Given the description of an element on the screen output the (x, y) to click on. 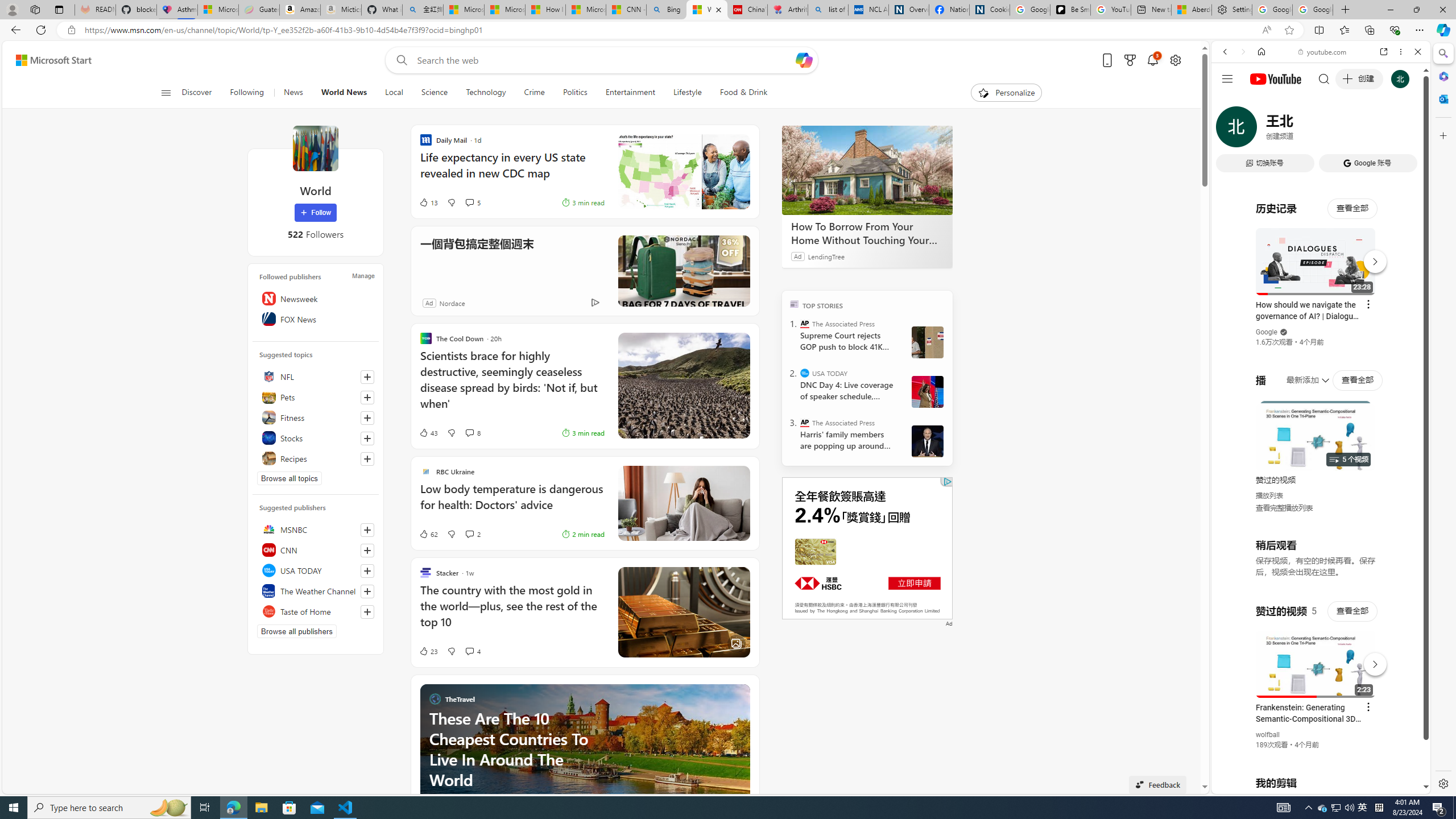
Click to scroll right (1407, 456)
USA TODAY (315, 570)
Cookies (988, 9)
View comments 8 Comment (472, 432)
Web scope (1230, 102)
43 Like (427, 432)
The Associated Press (804, 422)
View comments 4 Comment (472, 650)
Notifications (1152, 60)
